Given the description of an element on the screen output the (x, y) to click on. 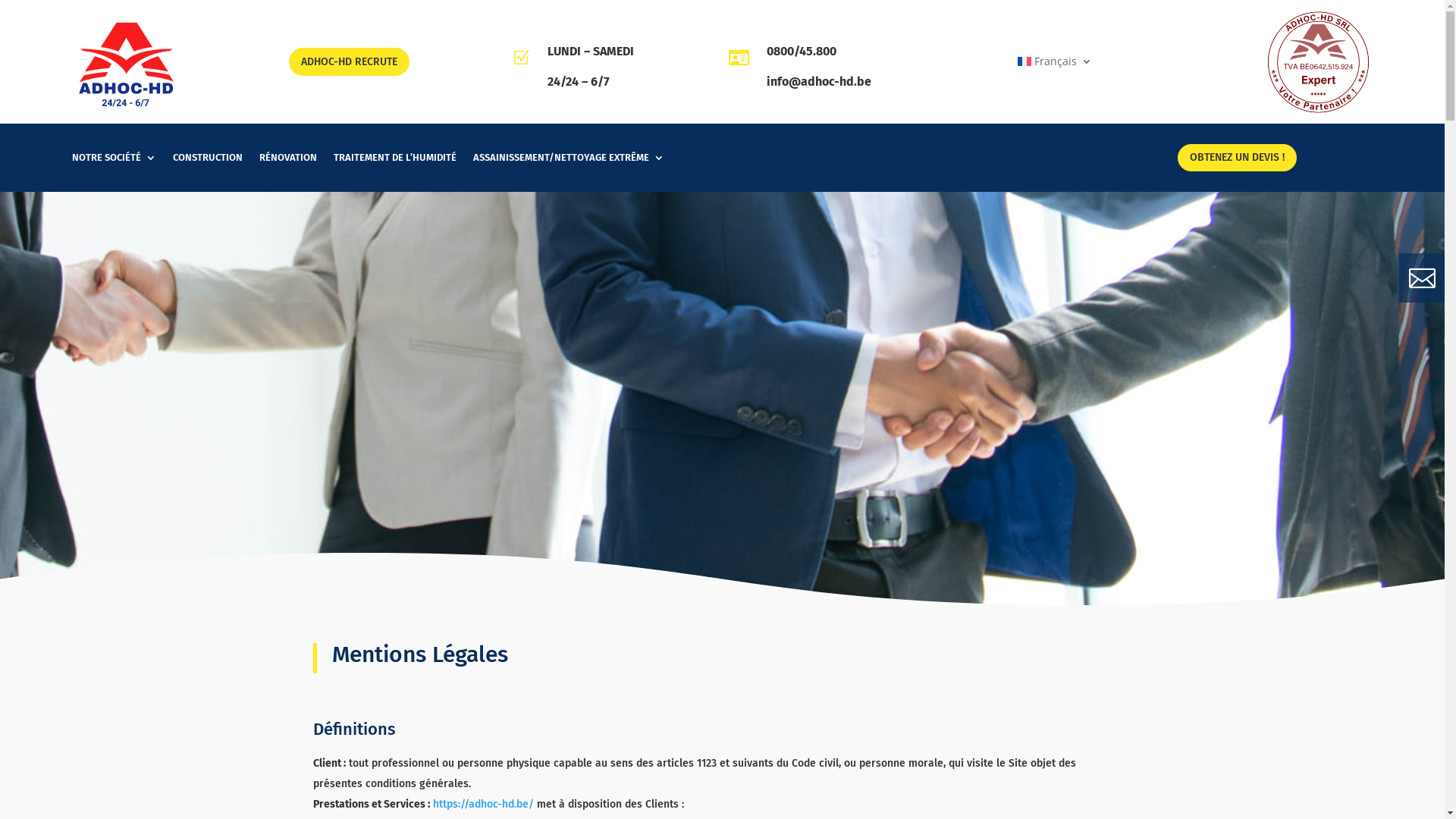
logo-adhoc-hd Element type: hover (126, 61)
cachet-entreprise-renovation-adhoc-hd Element type: hover (1318, 61)
info@adhoc-hd.be Element type: text (817, 81)
0800/45.800 Element type: text (800, 50)
https://adhoc-hd.be/ Element type: text (482, 803)
OBTENEZ UN DEVIS ! Element type: text (1236, 157)
ADHOC-HD RECRUTE Element type: text (348, 61)
CONSTRUCTION Element type: text (207, 160)
